Given the description of an element on the screen output the (x, y) to click on. 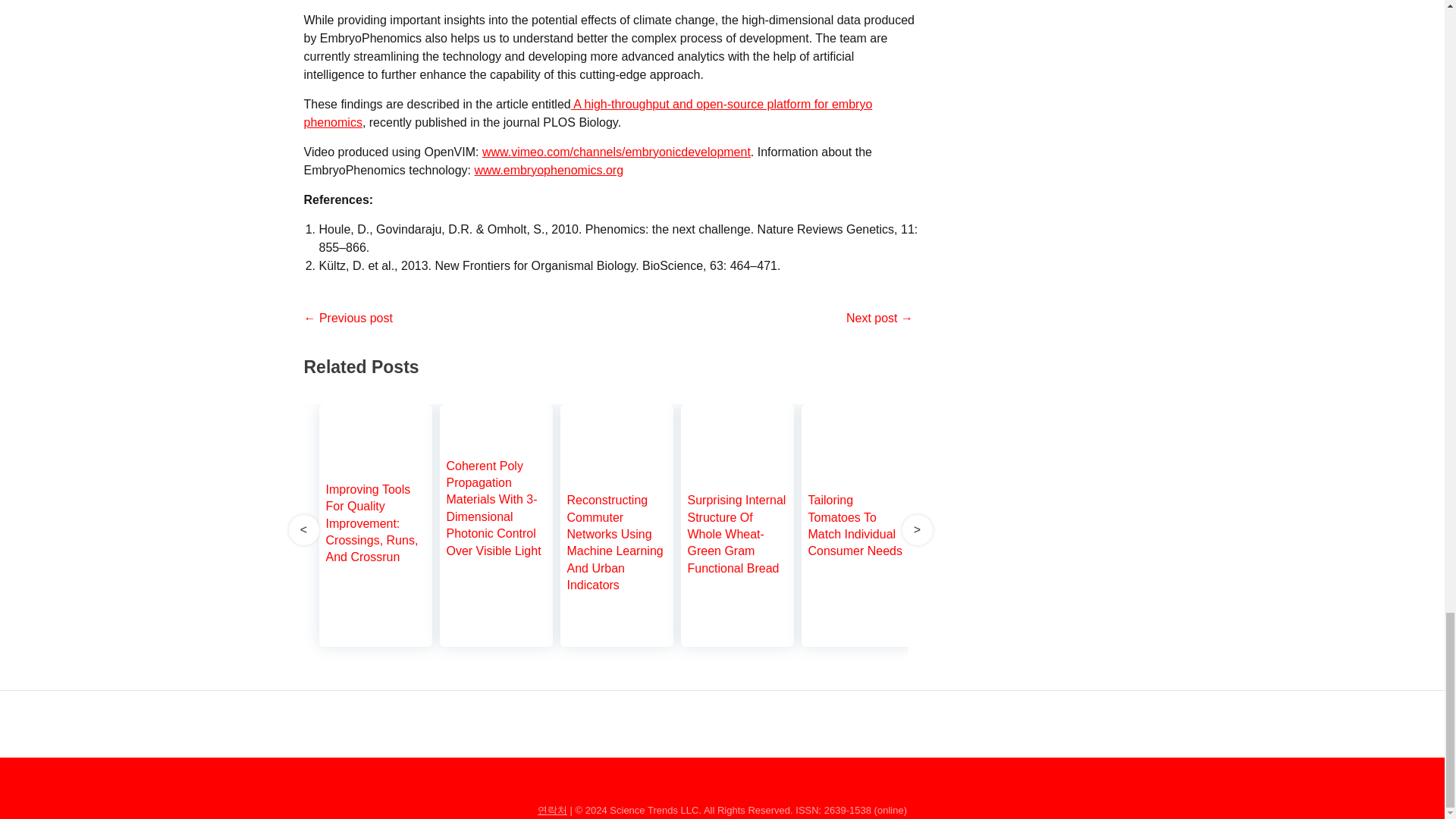
Tailoring Tomatoes To Match Individual Consumer Needs (857, 527)
Tailoring Tomatoes To Match Individual Consumer Needs (857, 471)
